Given the description of an element on the screen output the (x, y) to click on. 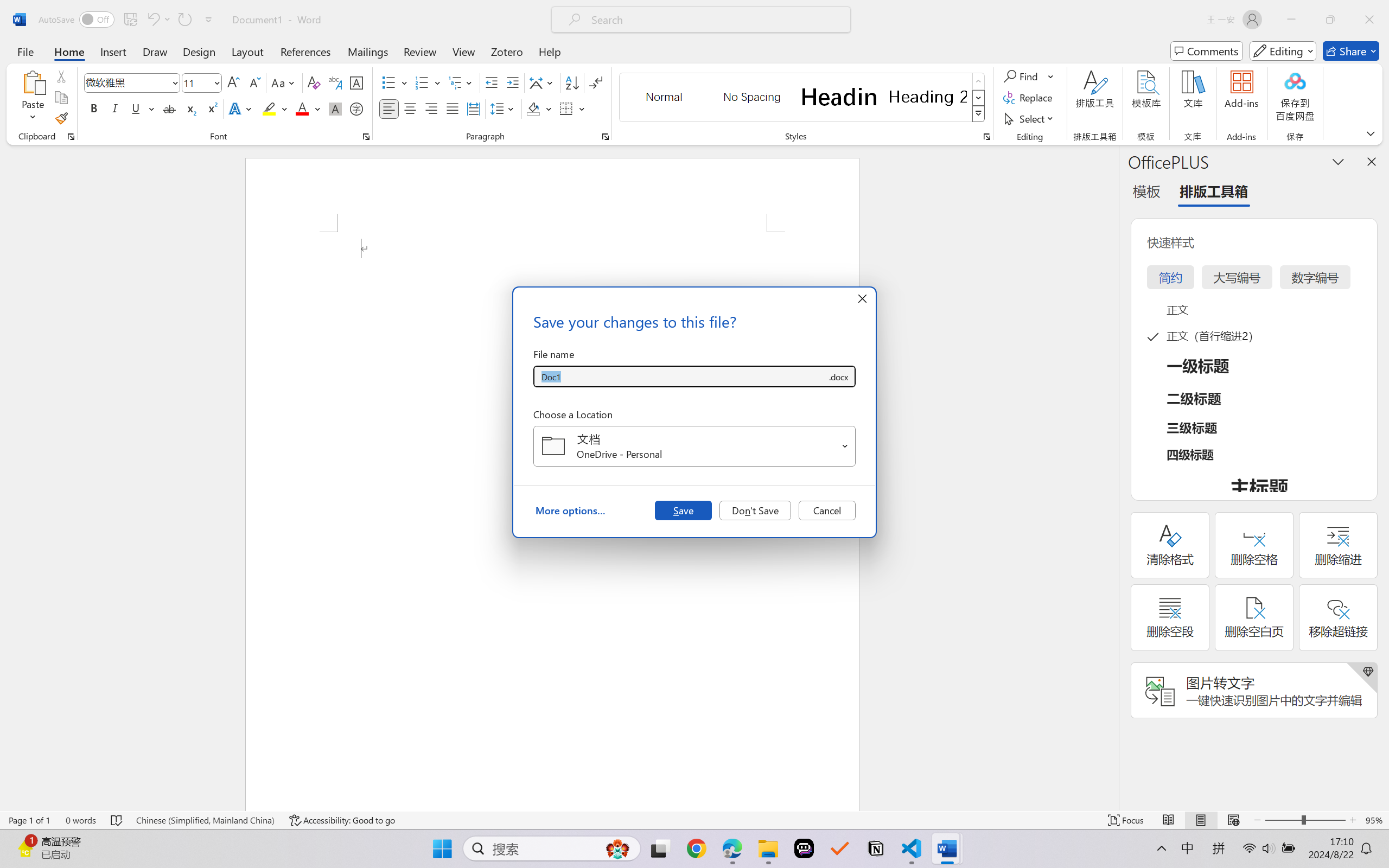
Date (824, 556)
Reject (594, 62)
Compare (543, 62)
Slide Picture with Caption Layout: used by no slides (115, 127)
